Given the description of an element on the screen output the (x, y) to click on. 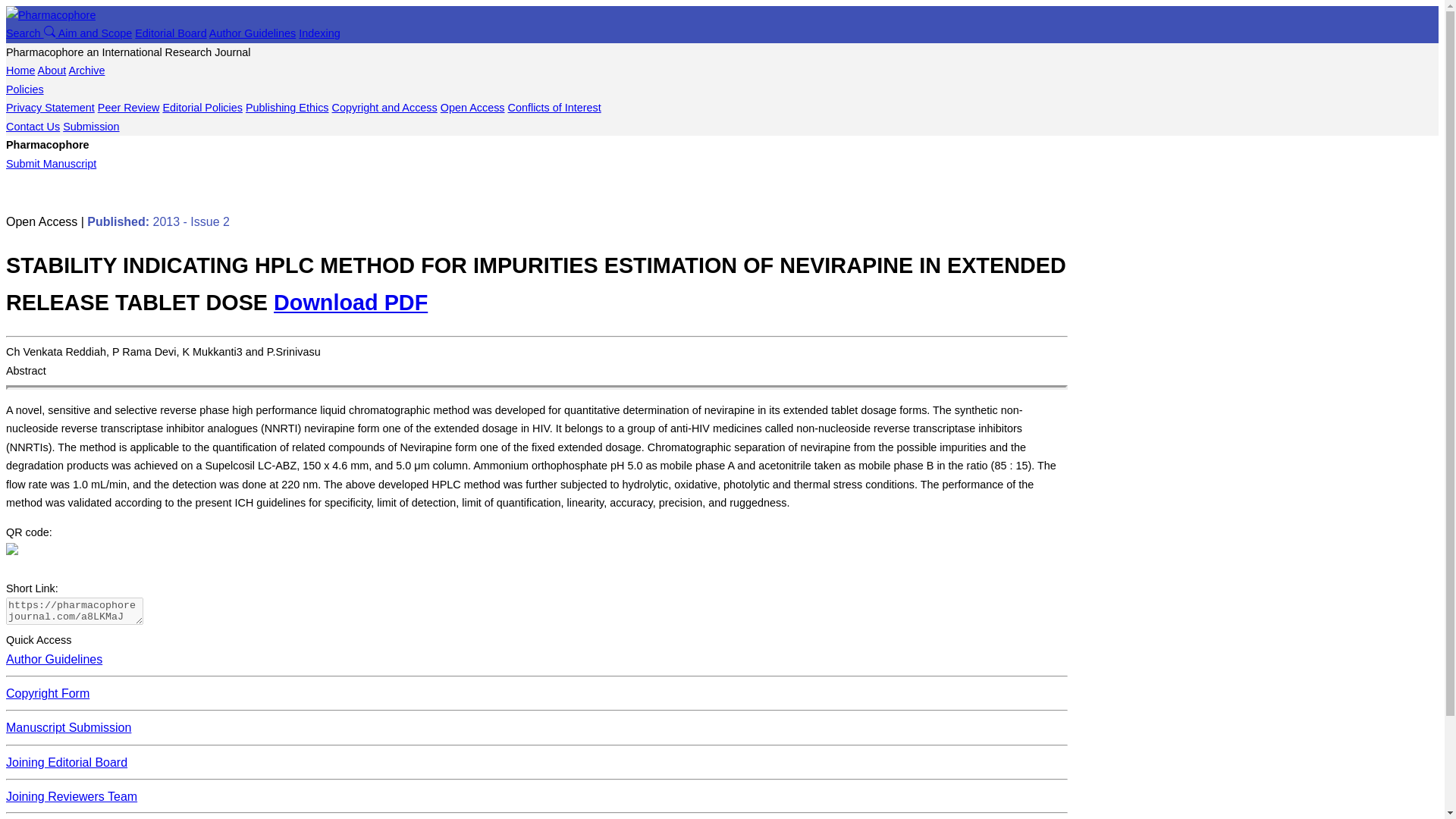
Policies (24, 89)
Indexing (318, 33)
Editorial Board (170, 33)
Contact Us (32, 126)
Download PDF (350, 302)
Submission (90, 126)
Home (19, 70)
About (51, 70)
Search (31, 33)
Aim and Scope (95, 33)
